Given the description of an element on the screen output the (x, y) to click on. 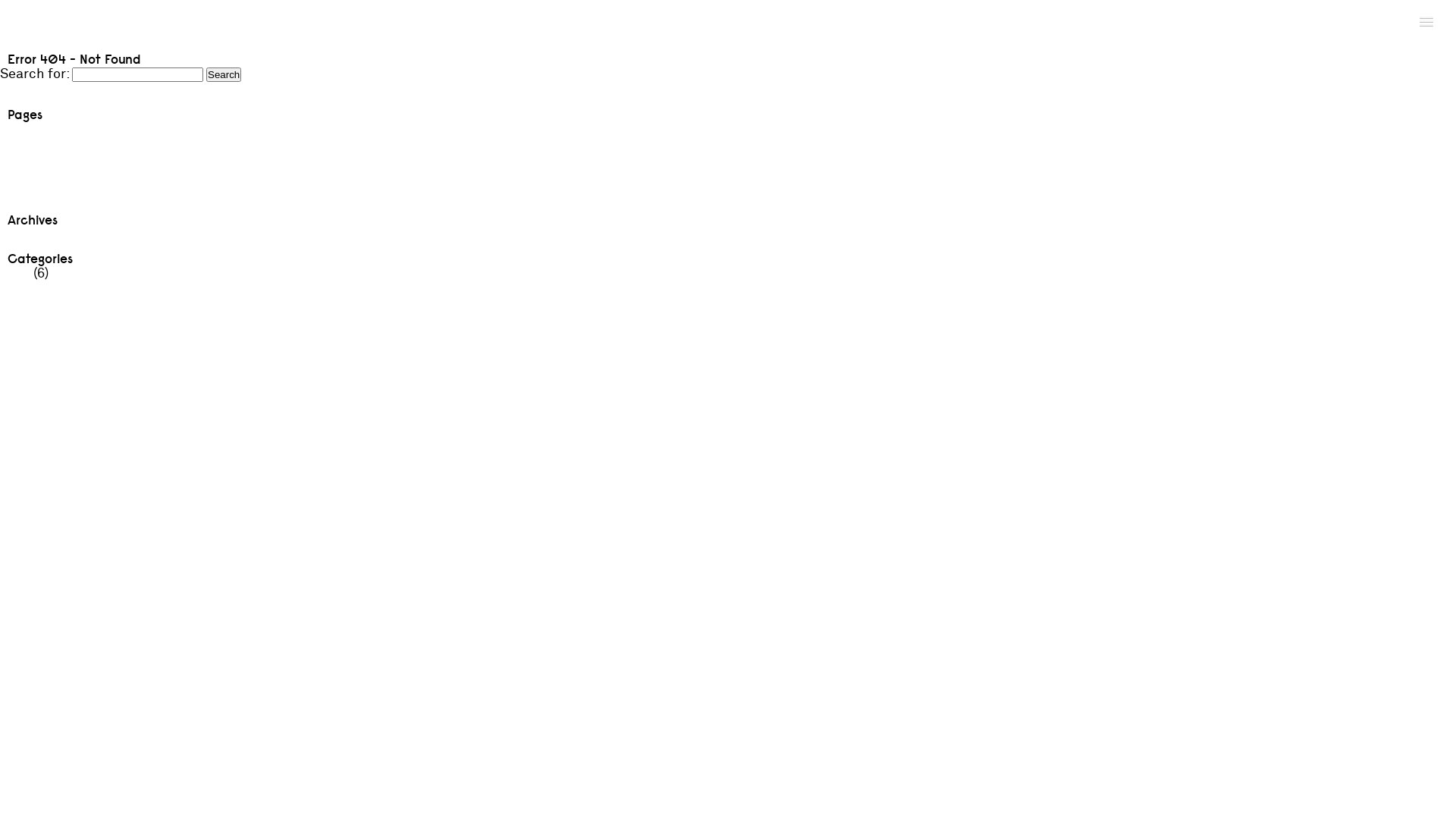
Om Element type: text (10, 179)
Case Element type: text (15, 145)
Kontakt Element type: text (25, 162)
January 2014 Element type: text (41, 234)
Startsida Element type: text (29, 195)
Case Element type: text (15, 273)
Search Element type: text (223, 74)
